Given the description of an element on the screen output the (x, y) to click on. 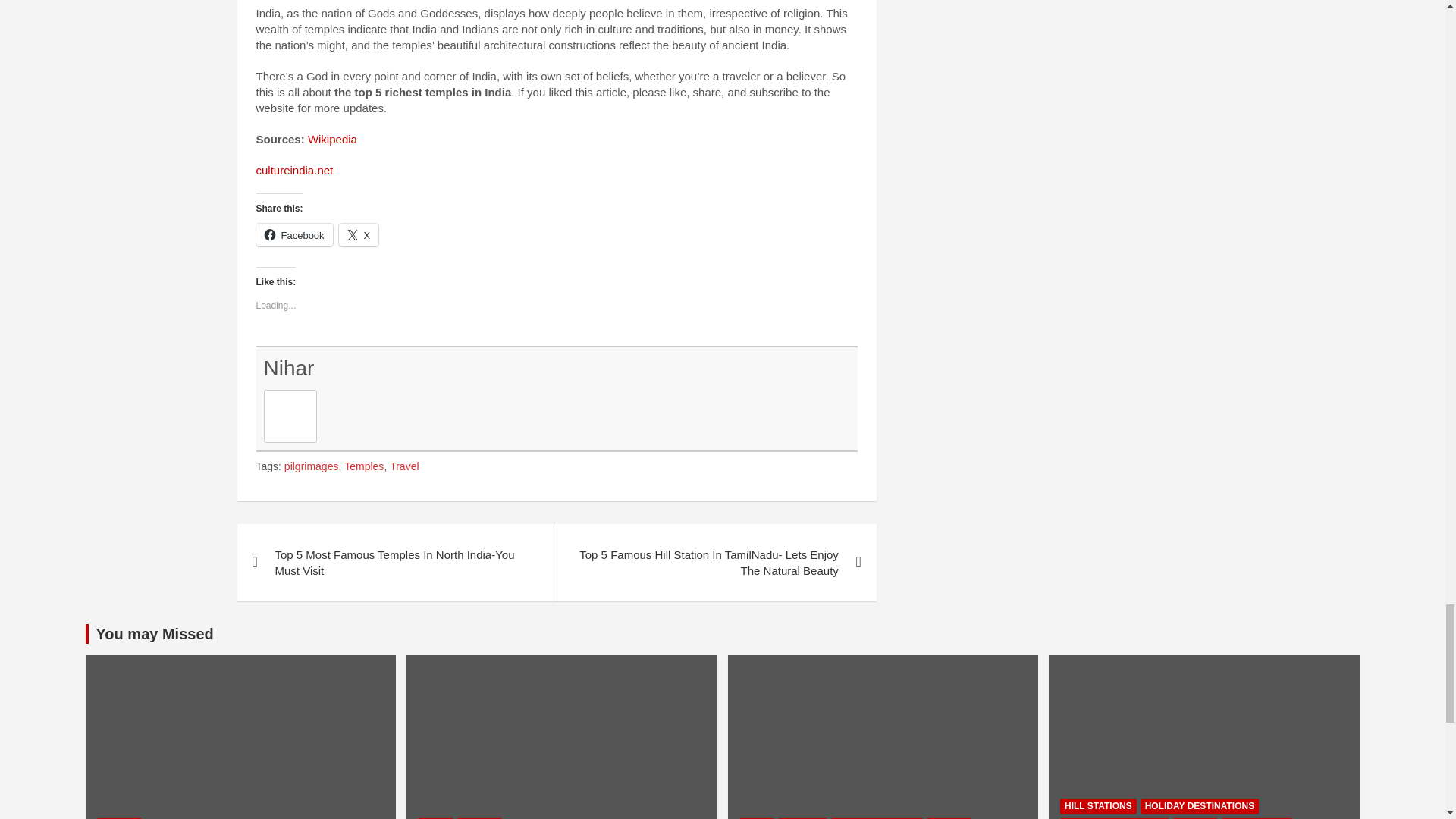
All posts by Nihar (288, 368)
Click to share on X (358, 234)
Click to share on Facebook (294, 234)
